Given the description of an element on the screen output the (x, y) to click on. 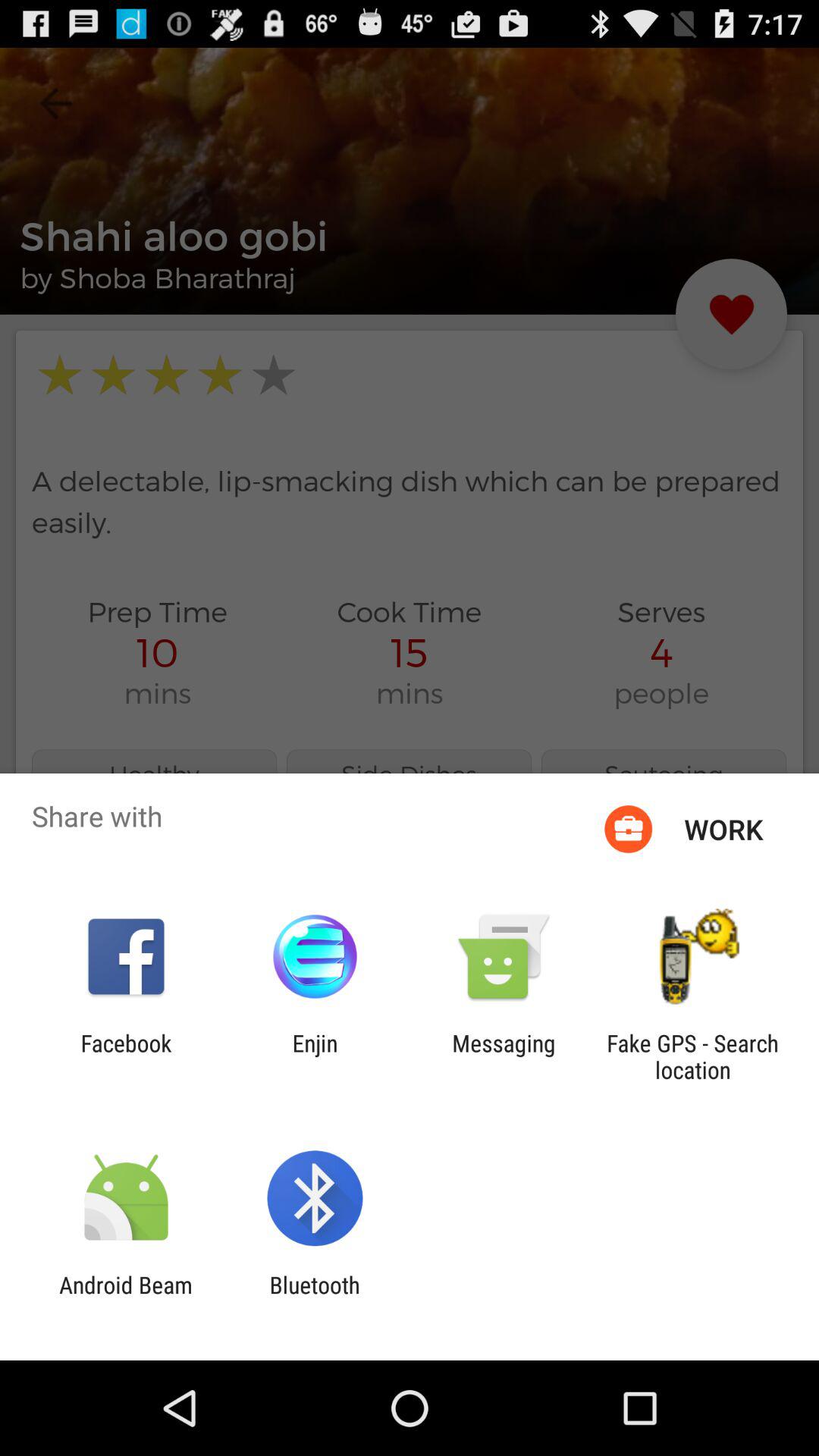
launch messaging item (503, 1056)
